Given the description of an element on the screen output the (x, y) to click on. 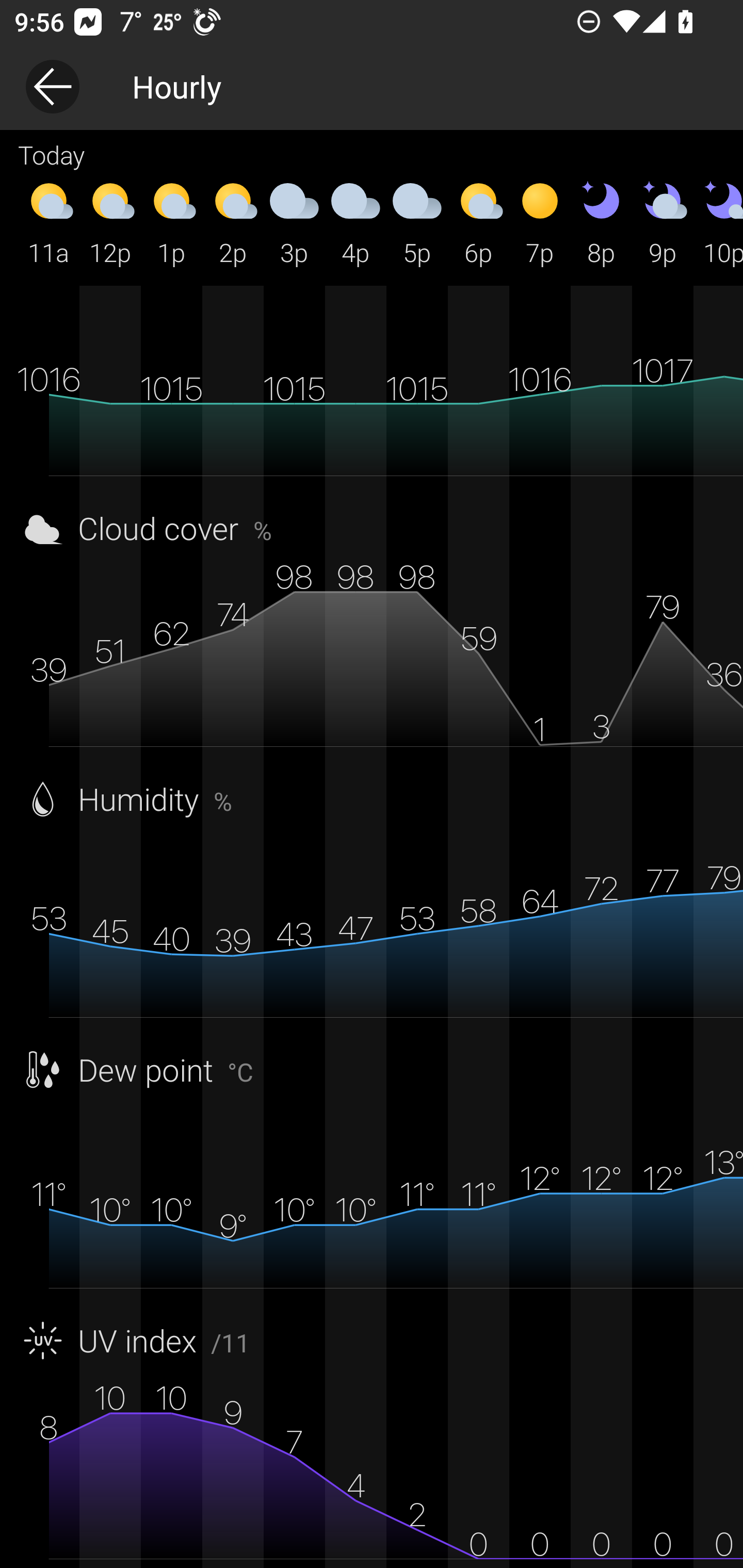
11a (48, 222)
12p (110, 222)
1p (171, 222)
2p (232, 222)
3p (294, 222)
4p (355, 222)
5p (417, 222)
6p (478, 222)
7p (539, 222)
8p (601, 222)
9p (662, 222)
10p (718, 222)
